Given the description of an element on the screen output the (x, y) to click on. 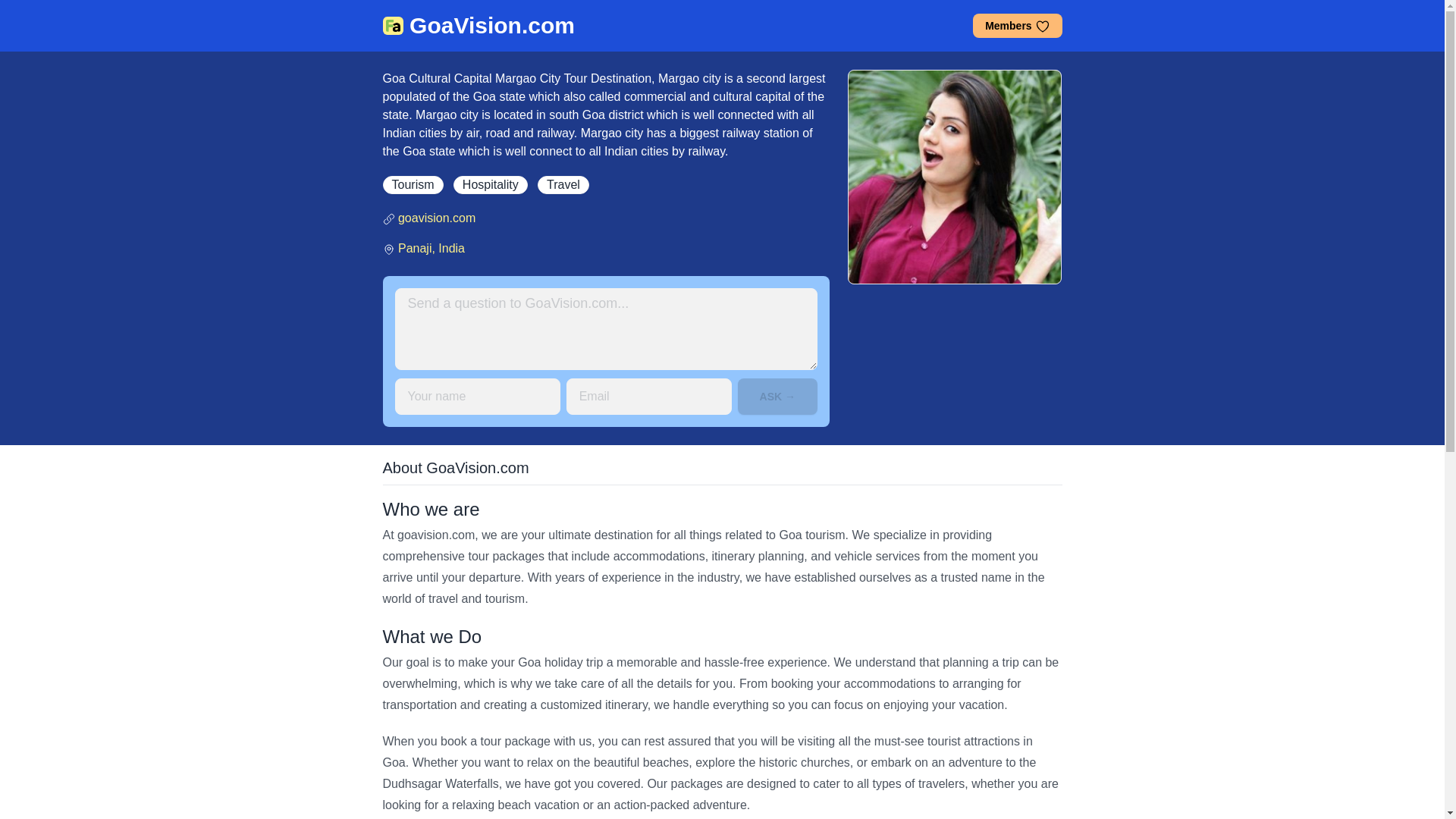
GoaVision.com (492, 25)
GoaVision.com (492, 25)
Funadvice (392, 25)
Members (1016, 25)
Hospitality (489, 185)
goavision.com (436, 217)
Panaji, India (430, 247)
Tourism (411, 185)
Travel (563, 185)
